Given the description of an element on the screen output the (x, y) to click on. 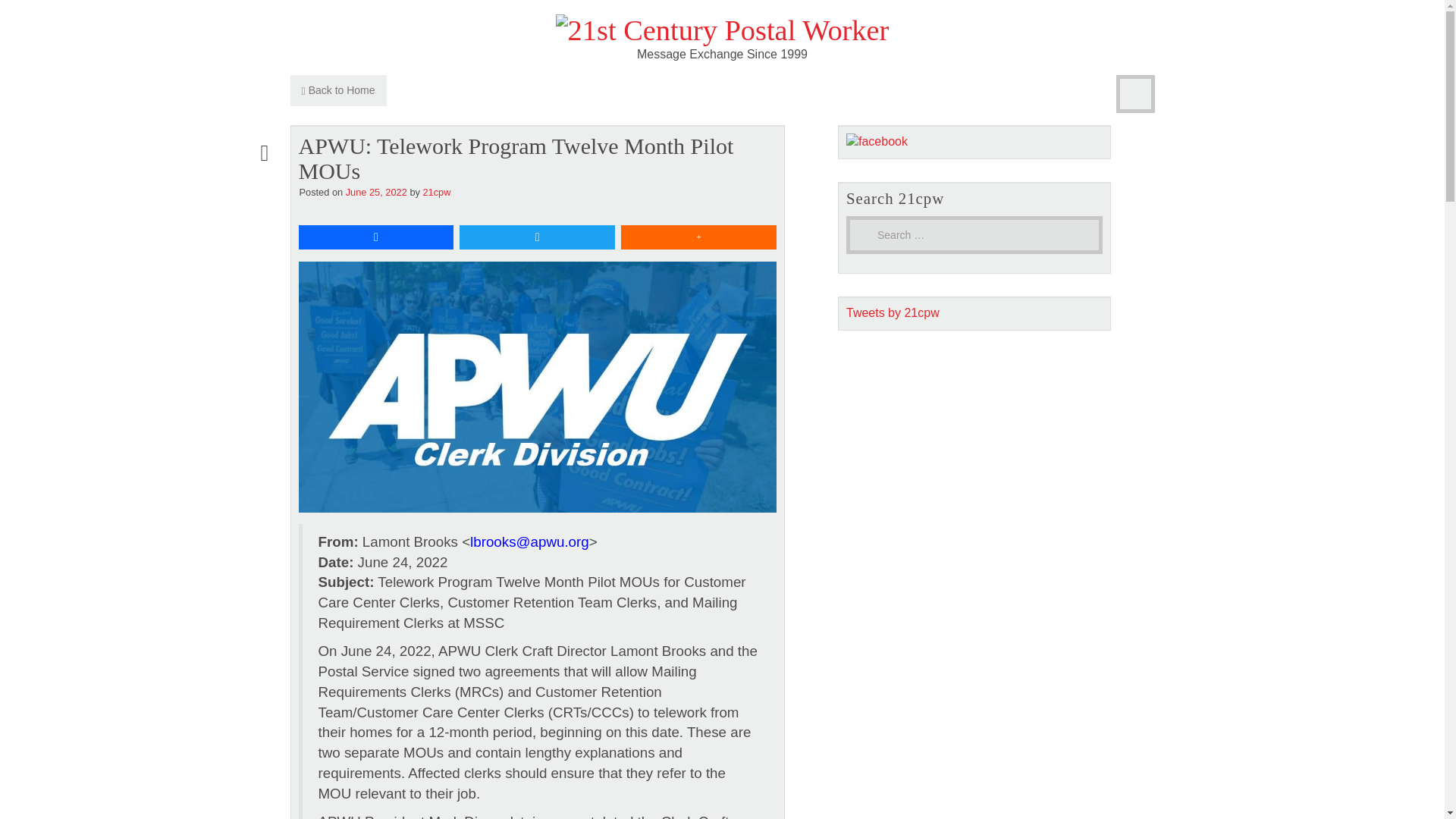
Tweet this ! (537, 237)
More share links (698, 237)
21st Century Postal Worker (722, 29)
Back to Home (337, 90)
21cpw (435, 192)
Tweets by 21cpw (892, 312)
June 25, 2022 (376, 192)
Share this on Facebook (376, 237)
Back to Home (337, 90)
